Given the description of an element on the screen output the (x, y) to click on. 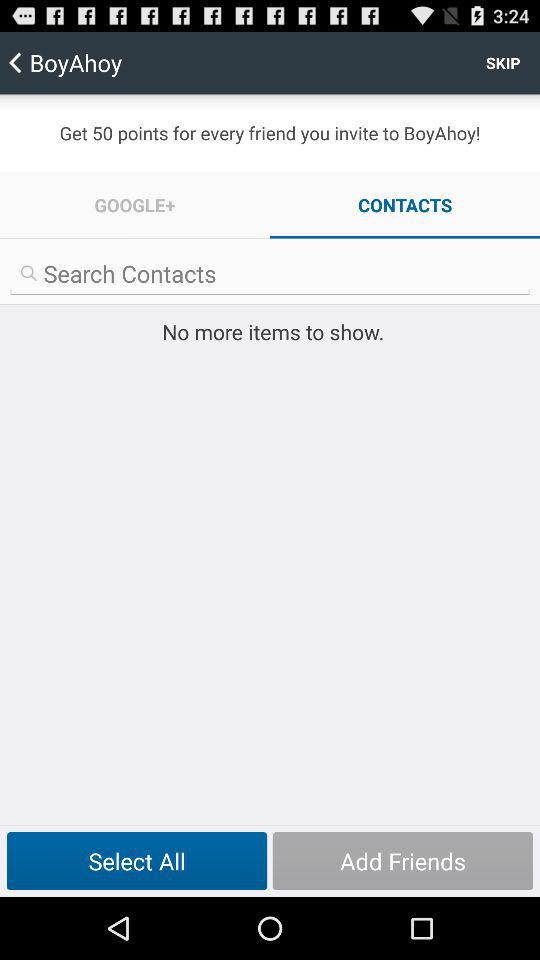
launch skip (503, 62)
